Given the description of an element on the screen output the (x, y) to click on. 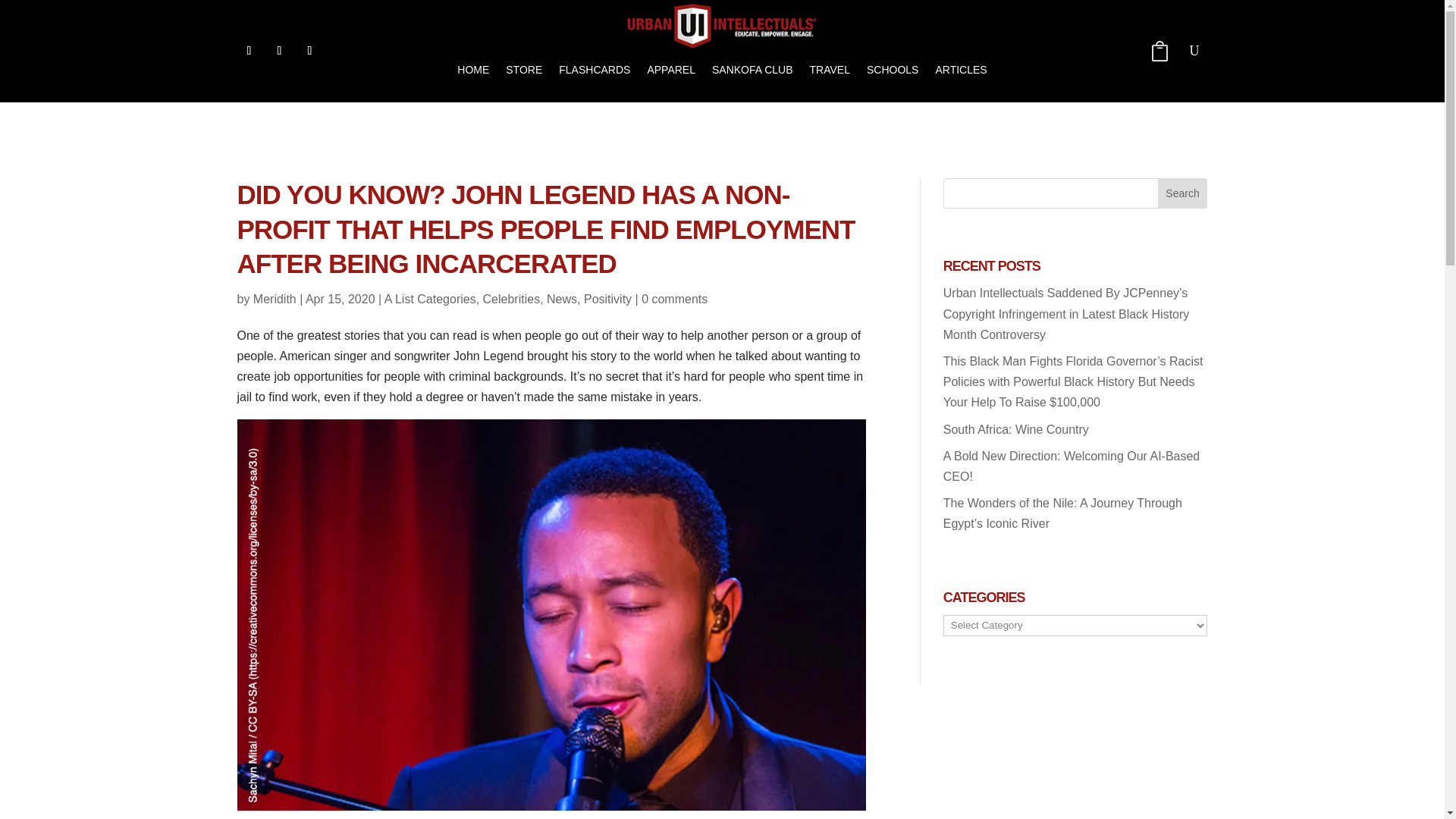
Posts by Meridith (275, 298)
SANKOFA CLUB (752, 69)
FLASHCARDS (594, 69)
ARTICLES (960, 69)
Follow on X (309, 50)
SCHOOLS (892, 69)
Follow on Instagram (278, 50)
Search (1182, 193)
Follow on Facebook (247, 50)
